Given the description of an element on the screen output the (x, y) to click on. 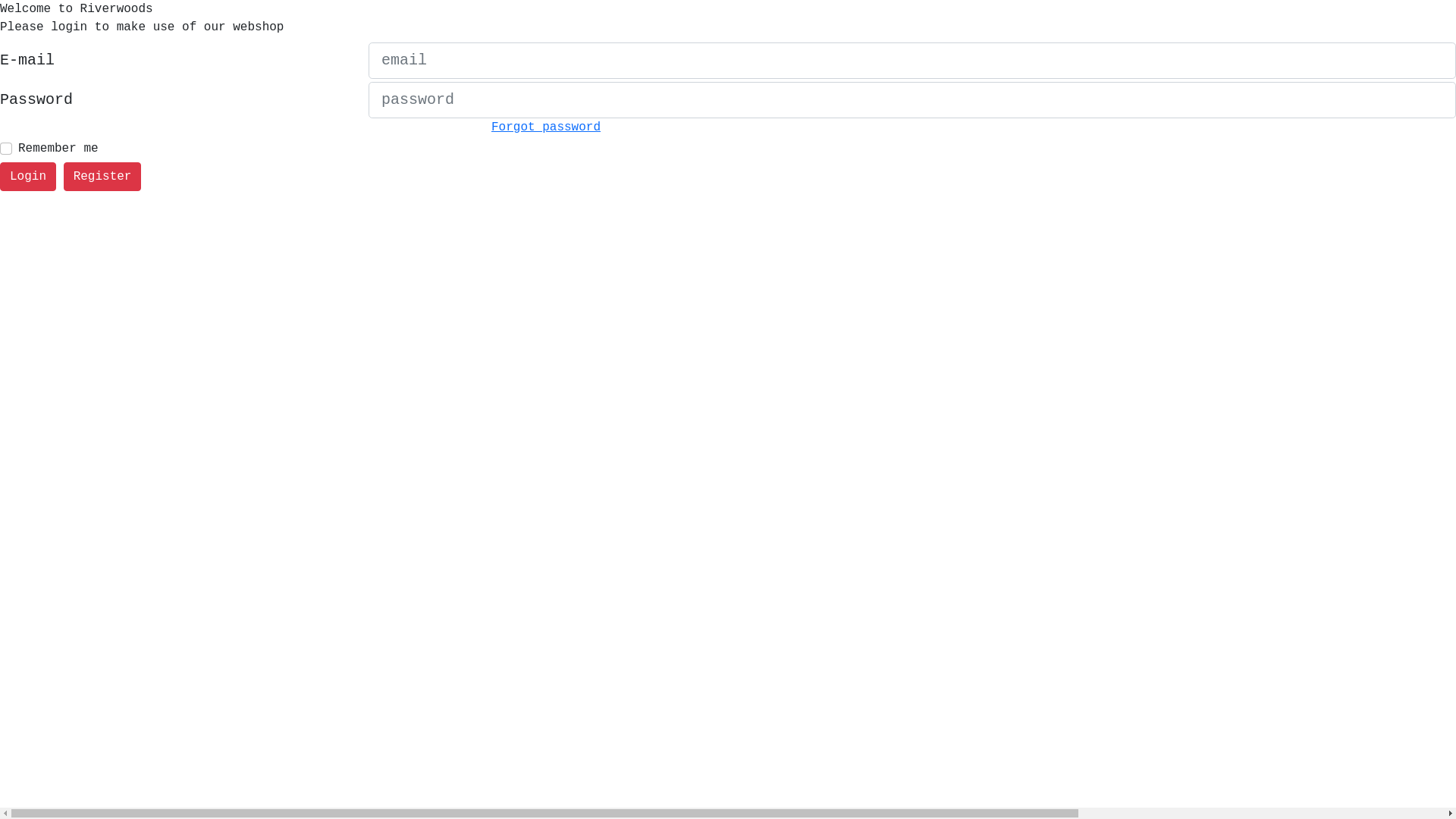
Register Element type: text (102, 176)
Forgot password Element type: text (545, 127)
Login Element type: text (28, 176)
